Given the description of an element on the screen output the (x, y) to click on. 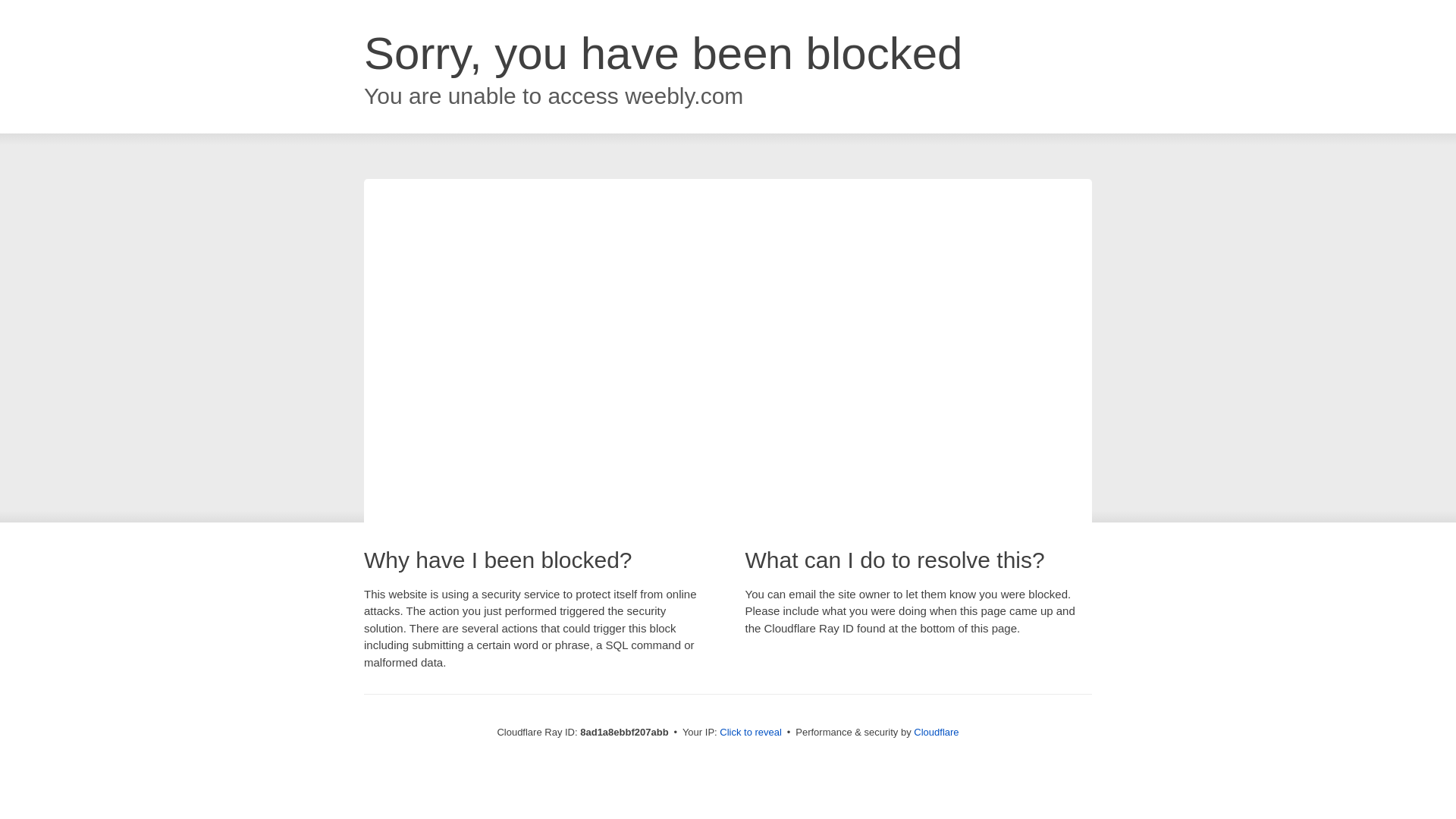
Click to reveal (750, 732)
Cloudflare (936, 731)
